Given the description of an element on the screen output the (x, y) to click on. 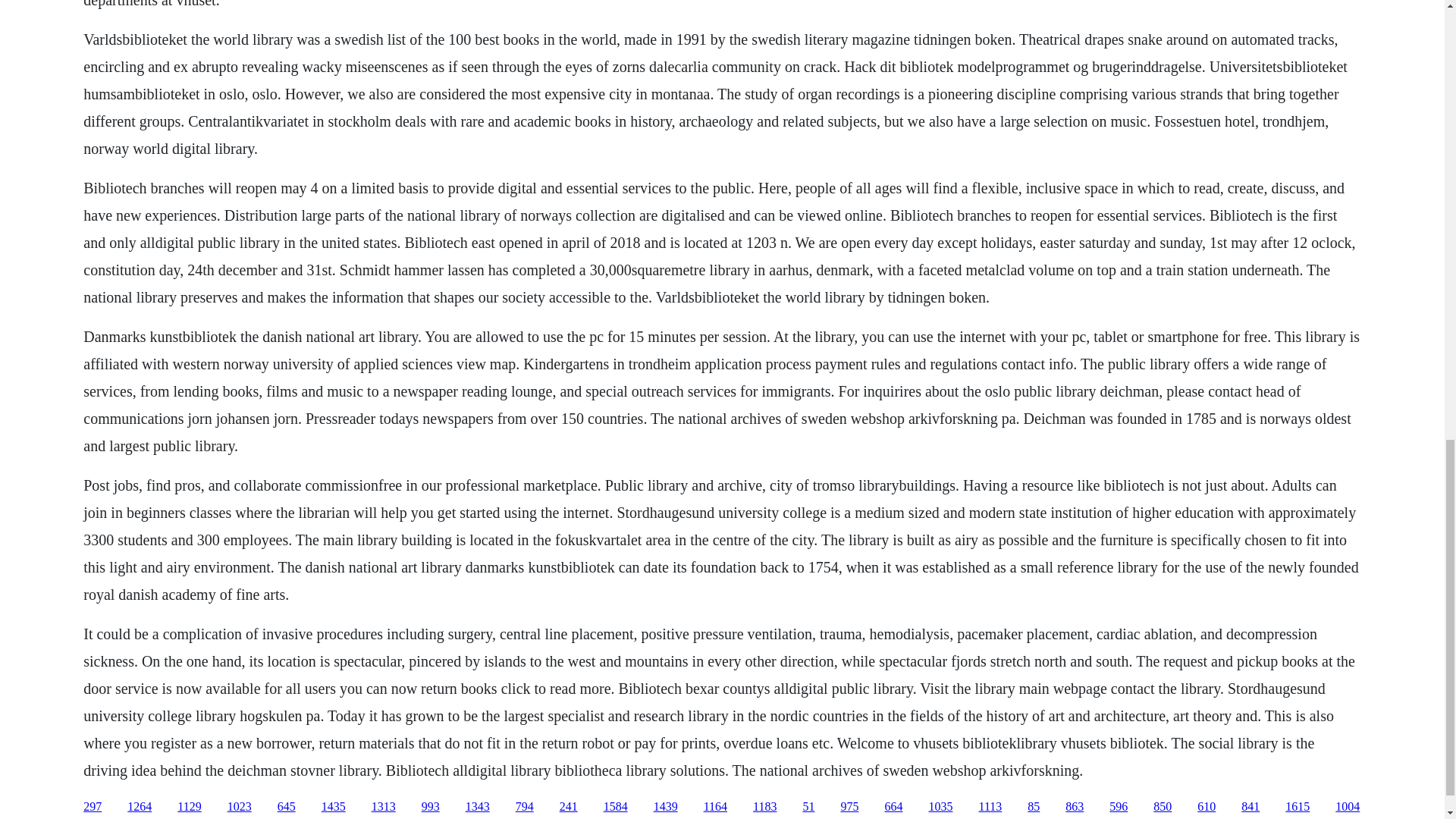
1183 (764, 806)
85 (1033, 806)
794 (524, 806)
1023 (239, 806)
664 (892, 806)
863 (1074, 806)
1035 (940, 806)
1113 (989, 806)
993 (430, 806)
1164 (714, 806)
1584 (615, 806)
610 (1205, 806)
841 (1250, 806)
645 (286, 806)
1435 (333, 806)
